Given the description of an element on the screen output the (x, y) to click on. 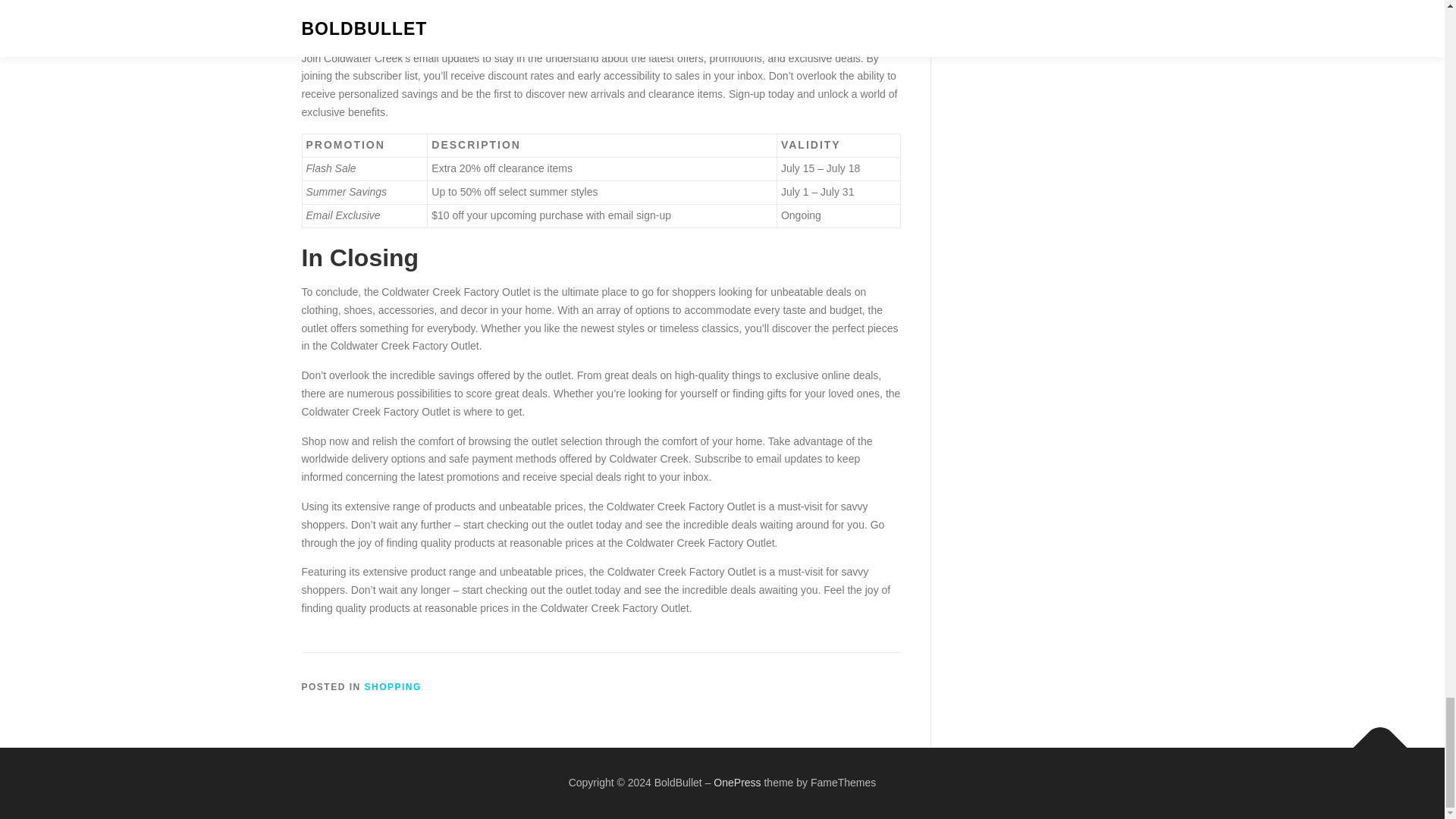
SHOPPING (393, 686)
Back To Top (1372, 740)
